Given the description of an element on the screen output the (x, y) to click on. 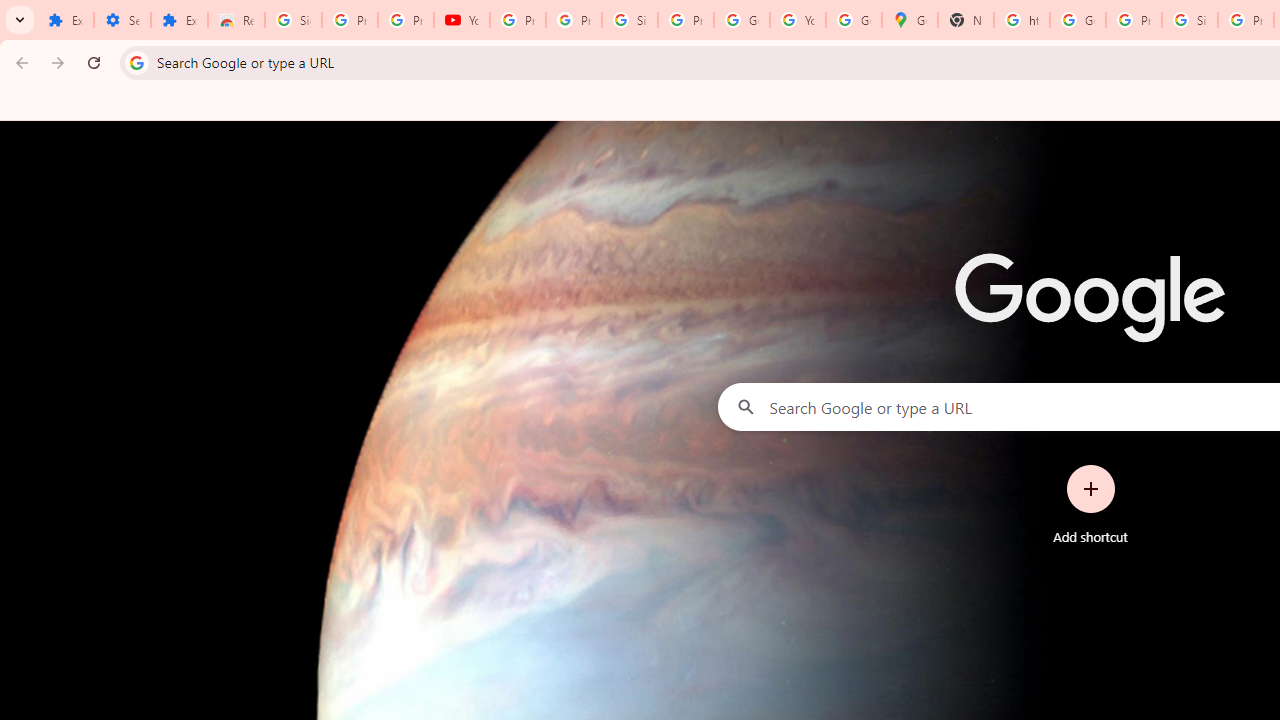
New Tab (966, 20)
Reviews: Helix Fruit Jump Arcade Game (235, 20)
